Given the description of an element on the screen output the (x, y) to click on. 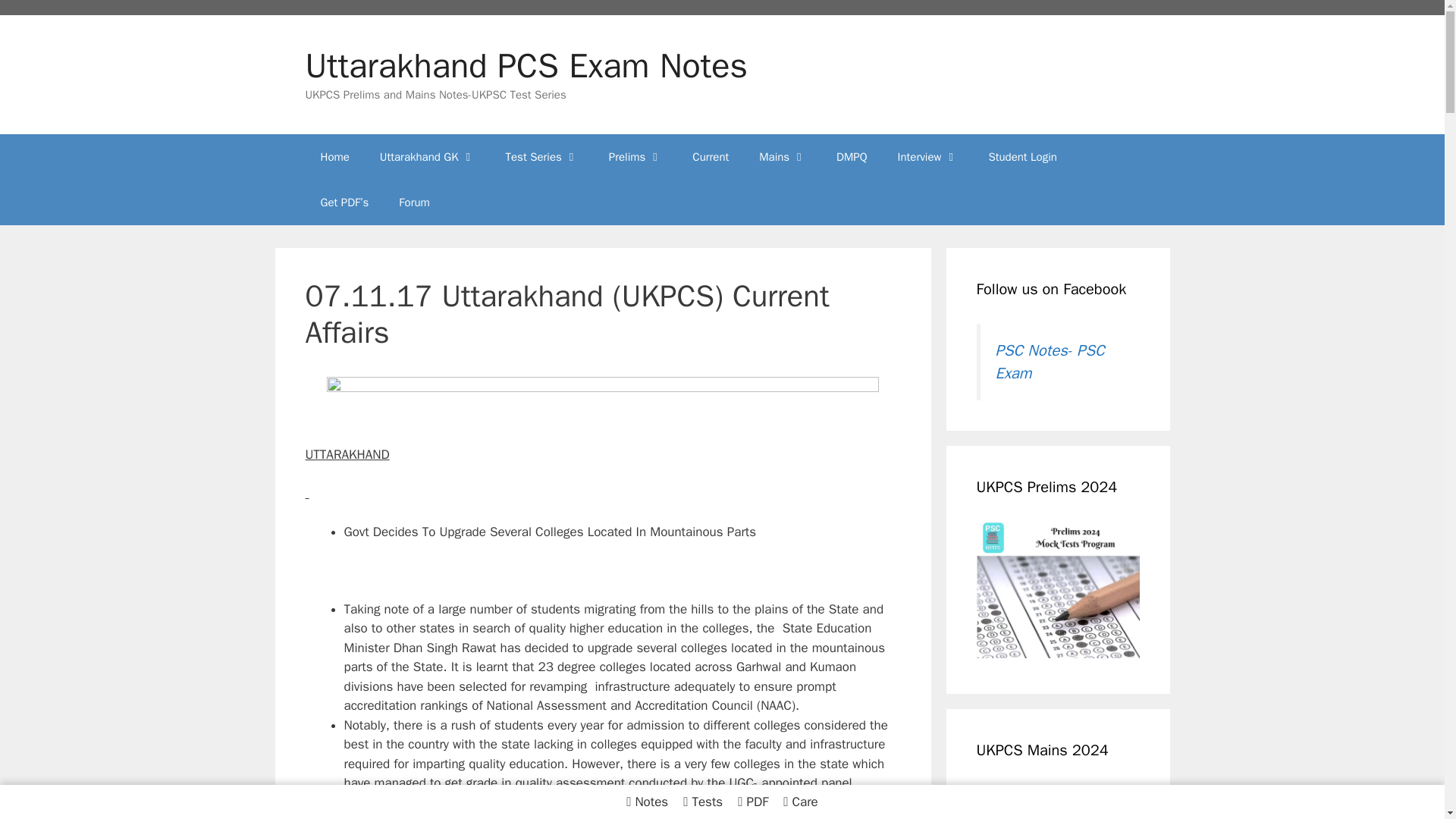
Student Login (1021, 156)
Current (710, 156)
Uttarakhand PCS Exam Notes (525, 65)
DMPQ (851, 156)
Forum (414, 201)
Test Series (542, 156)
Interview (928, 156)
Prelims (636, 156)
Home (334, 156)
Uttarakhand GK (427, 156)
Mains (782, 156)
